Given the description of an element on the screen output the (x, y) to click on. 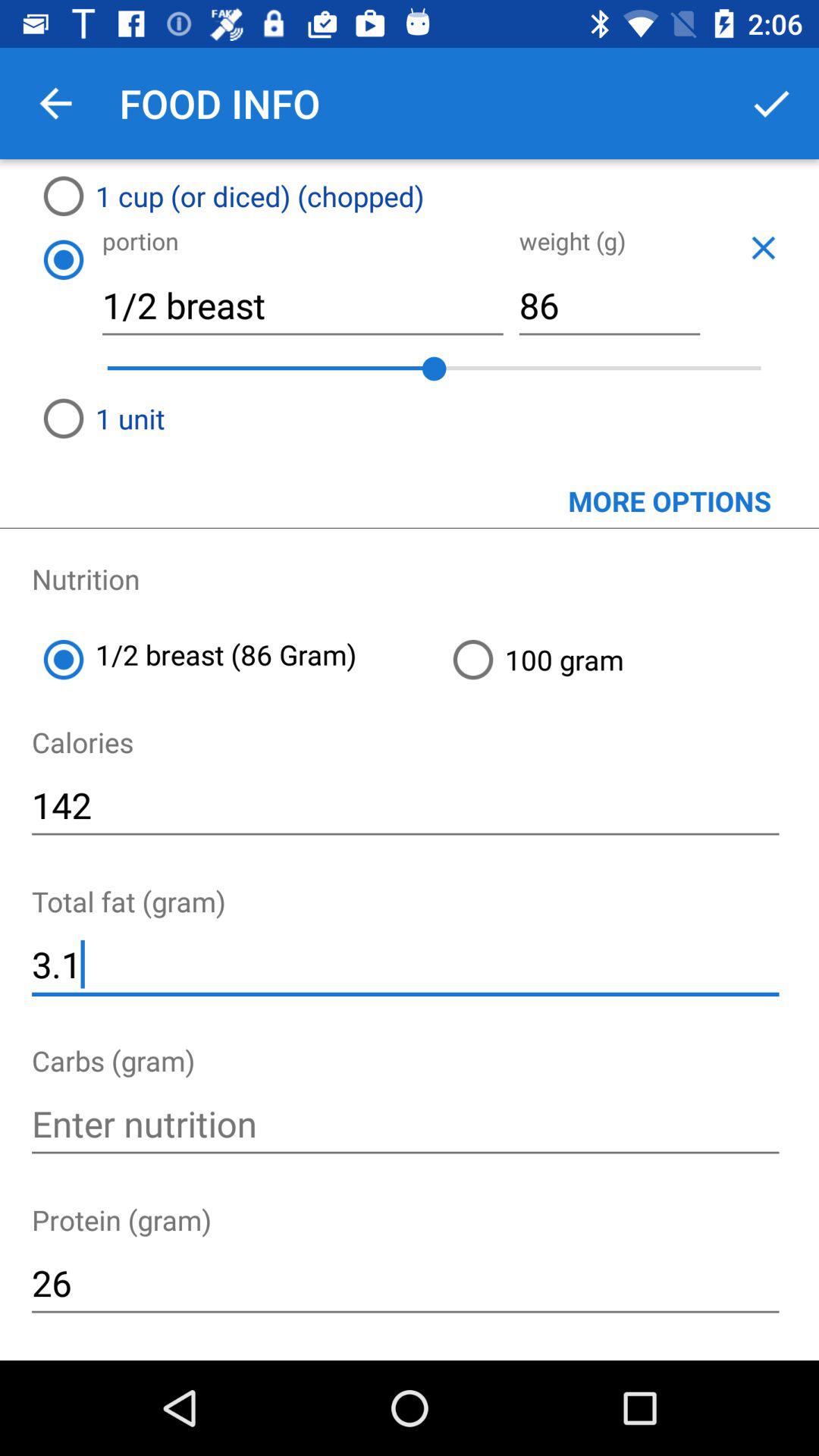
select portion size (62, 259)
